Given the description of an element on the screen output the (x, y) to click on. 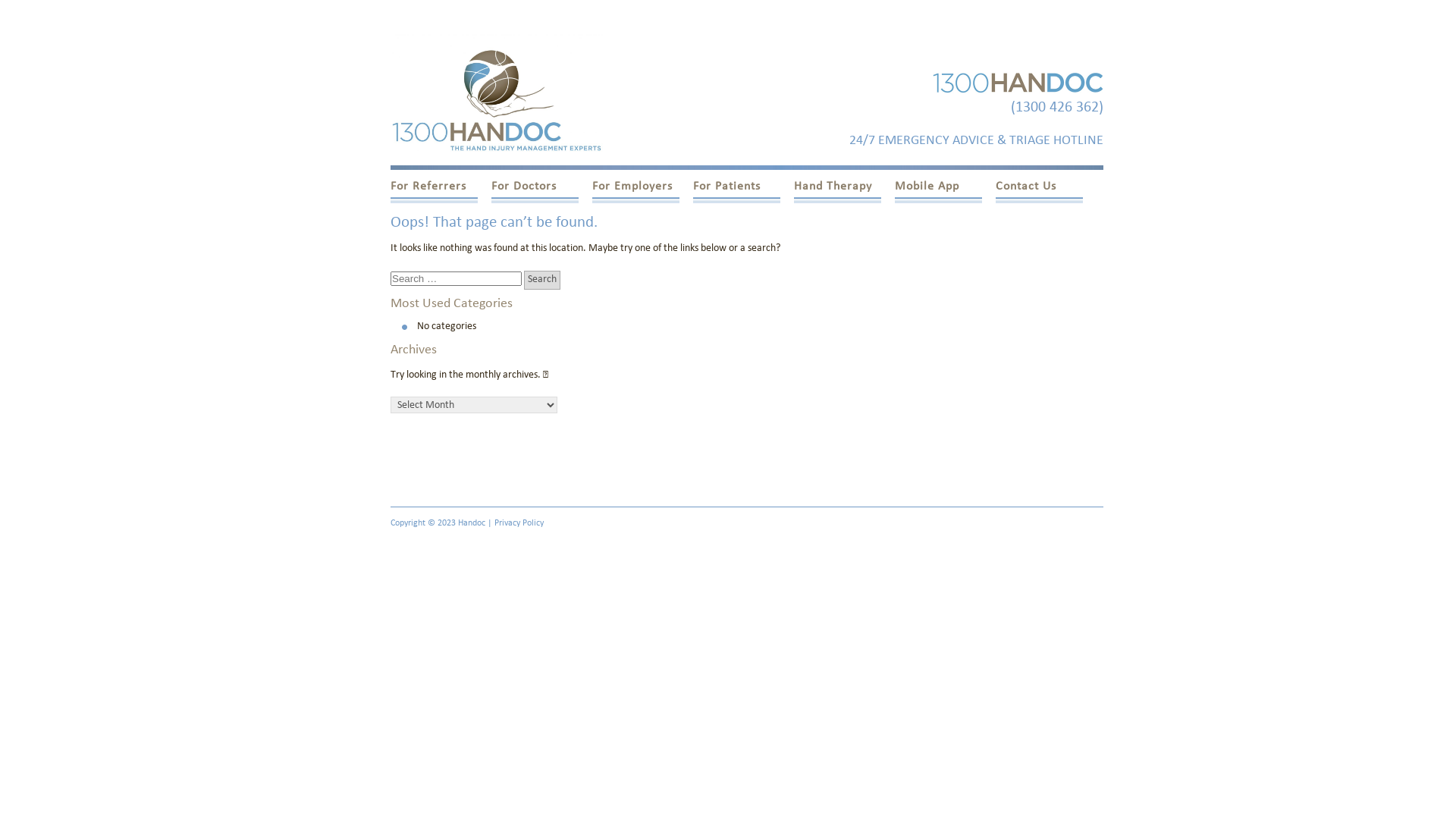
Privacy Policy Element type: text (518, 522)
For Doctors Element type: text (534, 191)
For Employers Element type: text (635, 191)
Search Element type: text (542, 278)
For Patients Element type: text (736, 191)
Contact Us Element type: text (1038, 191)
For Referrers Element type: text (433, 191)
Hand Therapy Element type: text (837, 191)
(1300 426 362) Element type: text (1056, 107)
Mobile App Element type: text (938, 191)
